Given the description of an element on the screen output the (x, y) to click on. 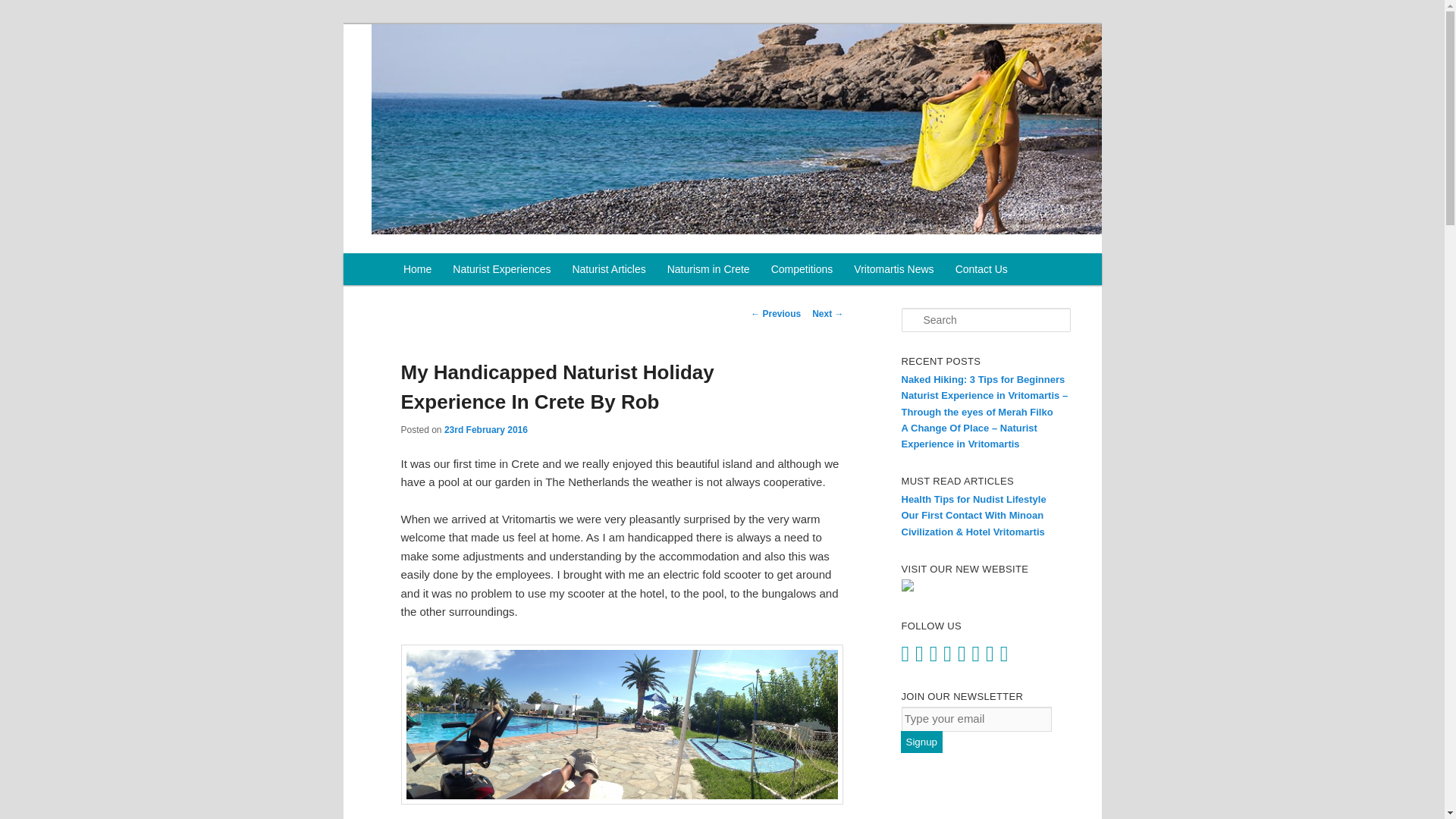
Skip to primary content (464, 269)
23rd February 2016 (485, 429)
Competitions (802, 269)
Naturist Articles (608, 269)
Vritomartis News (893, 269)
11:05 (485, 429)
Home (417, 269)
Naturism in Crete (708, 269)
Naturist Experiences (501, 269)
Contact Us (980, 269)
